Given the description of an element on the screen output the (x, y) to click on. 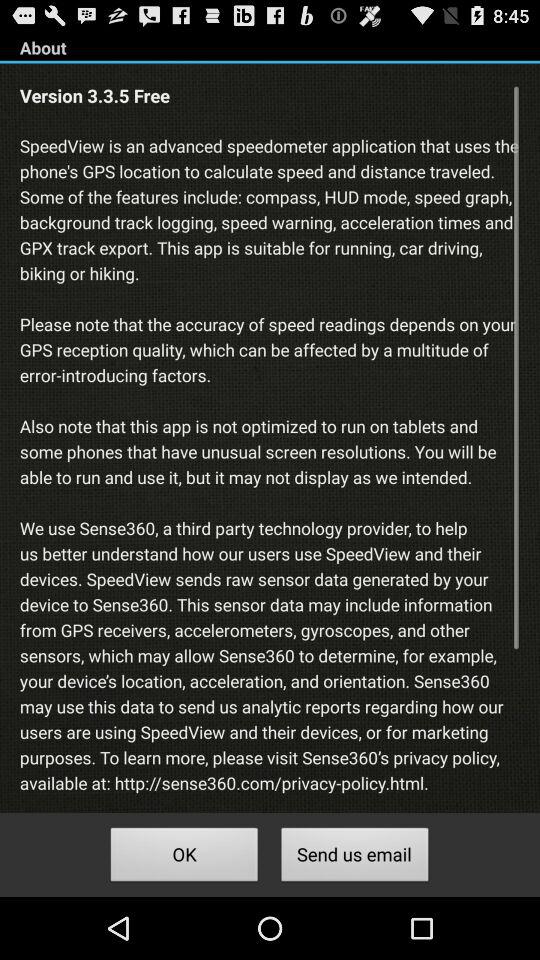
click the send us email button (354, 857)
